Given the description of an element on the screen output the (x, y) to click on. 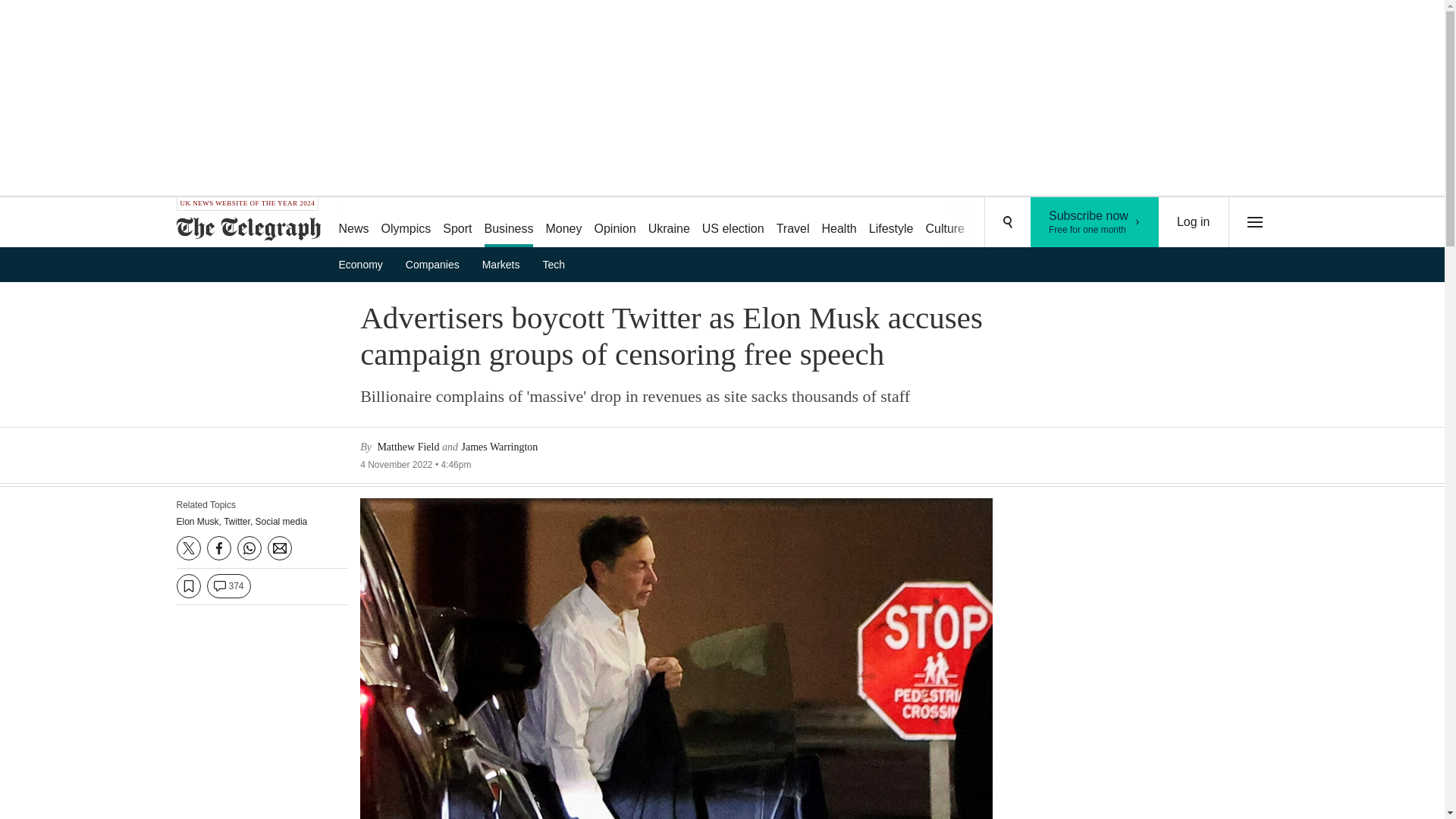
Log in (1193, 222)
Health (838, 223)
Podcasts (1056, 223)
US election (732, 223)
Opinion (615, 223)
Puzzles (998, 223)
Business (509, 223)
Ukraine (1094, 222)
Lifestyle (668, 223)
Economy (891, 223)
Olympics (364, 264)
Companies (406, 223)
Travel (437, 264)
Culture (792, 223)
